Given the description of an element on the screen output the (x, y) to click on. 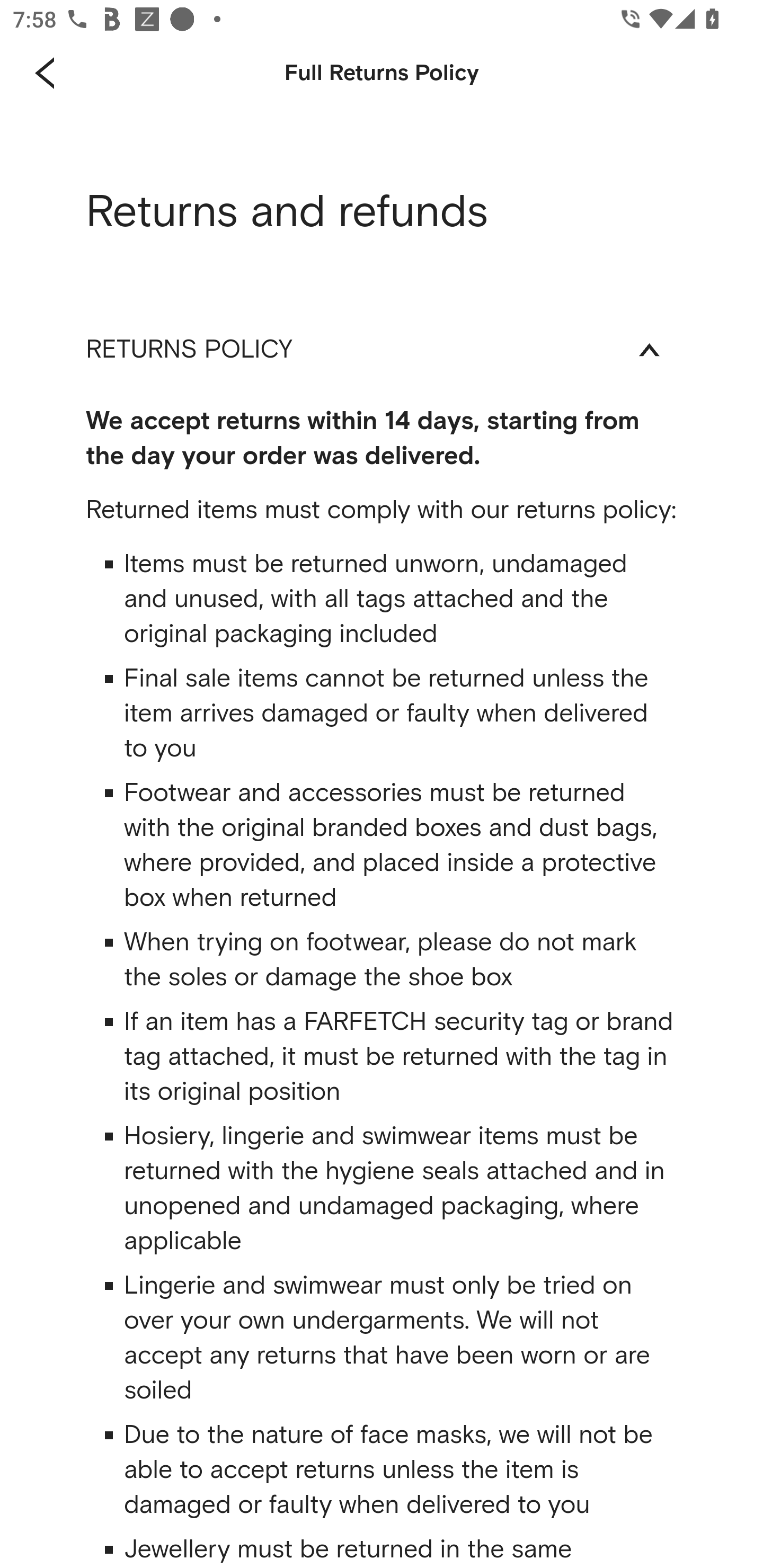
RETURNS POLICY (381, 348)
